Given the description of an element on the screen output the (x, y) to click on. 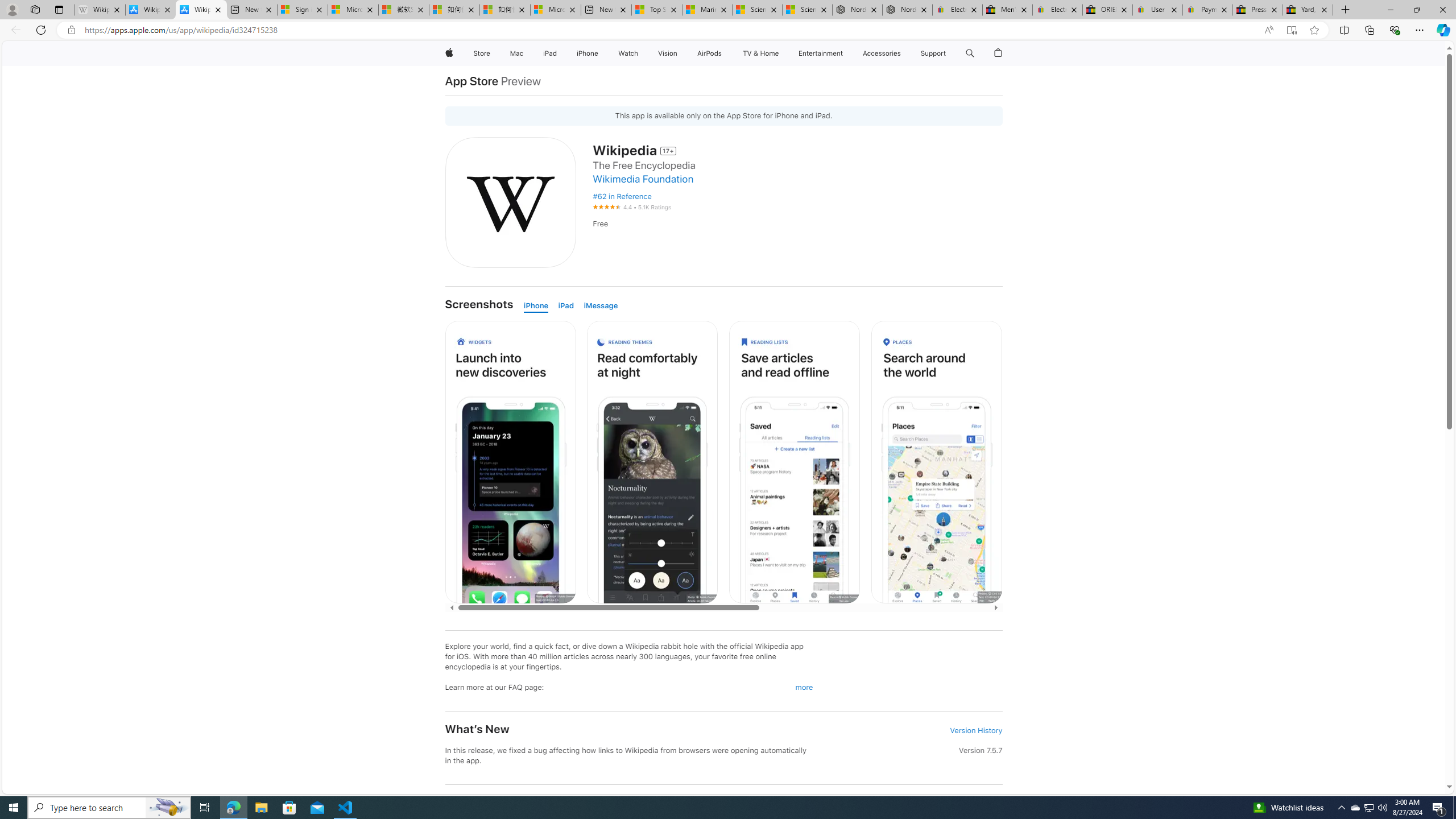
Store menu (492, 53)
#62 in Reference (797, 196)
User Privacy Notice | eBay (1158, 9)
Store (481, 53)
Mac (516, 53)
iPhone (535, 305)
iMessage (600, 305)
